Given the description of an element on the screen output the (x, y) to click on. 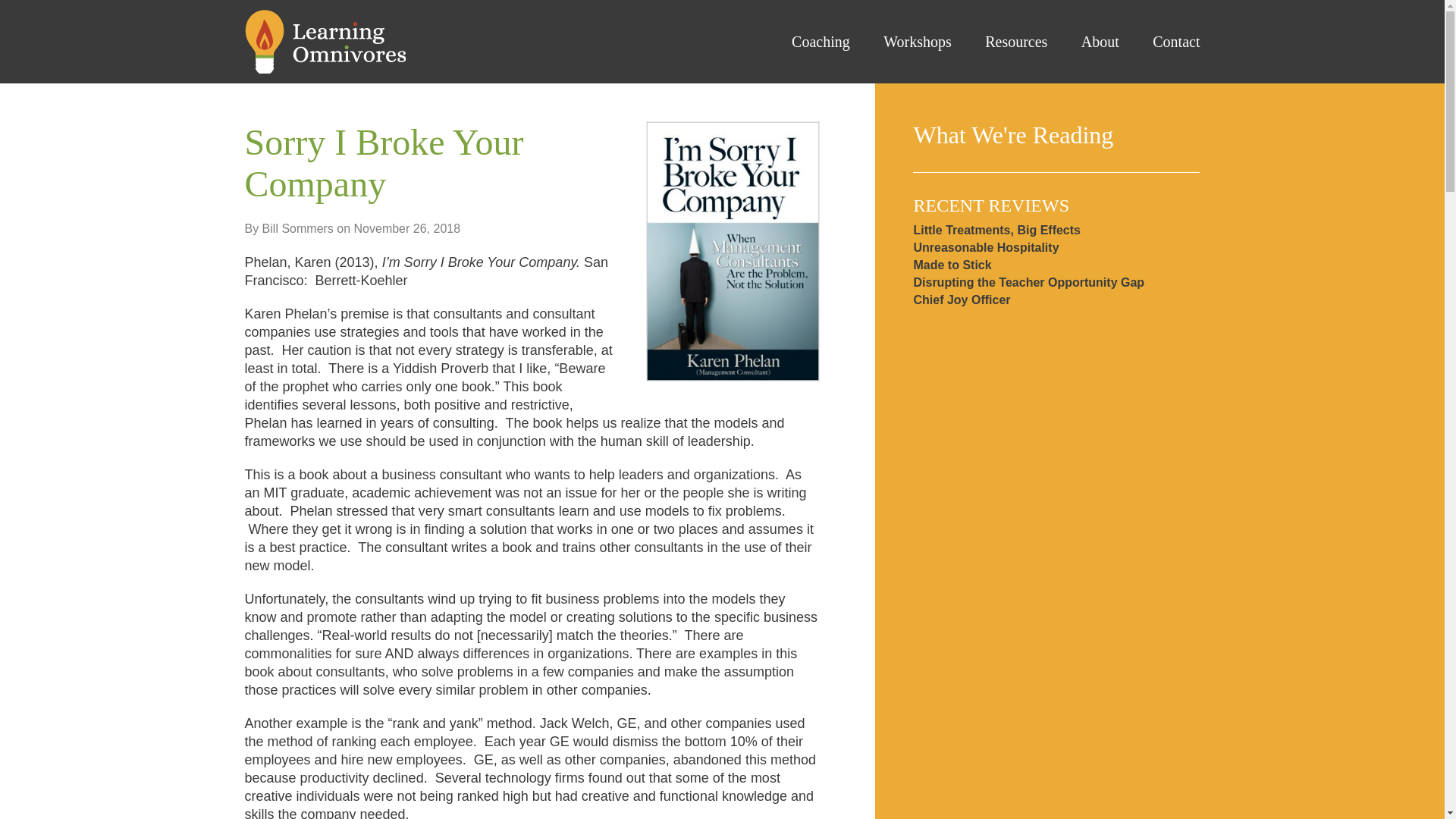
Workshops (902, 41)
Unreasonable Hospitality (985, 246)
Coaching (805, 41)
Contact (1160, 41)
Little Treatments, Big Effects (996, 229)
Made to Stick (951, 264)
Disrupting the Teacher Opportunity Gap (1028, 282)
Resources (1000, 41)
Chief Joy Officer (961, 299)
